Given the description of an element on the screen output the (x, y) to click on. 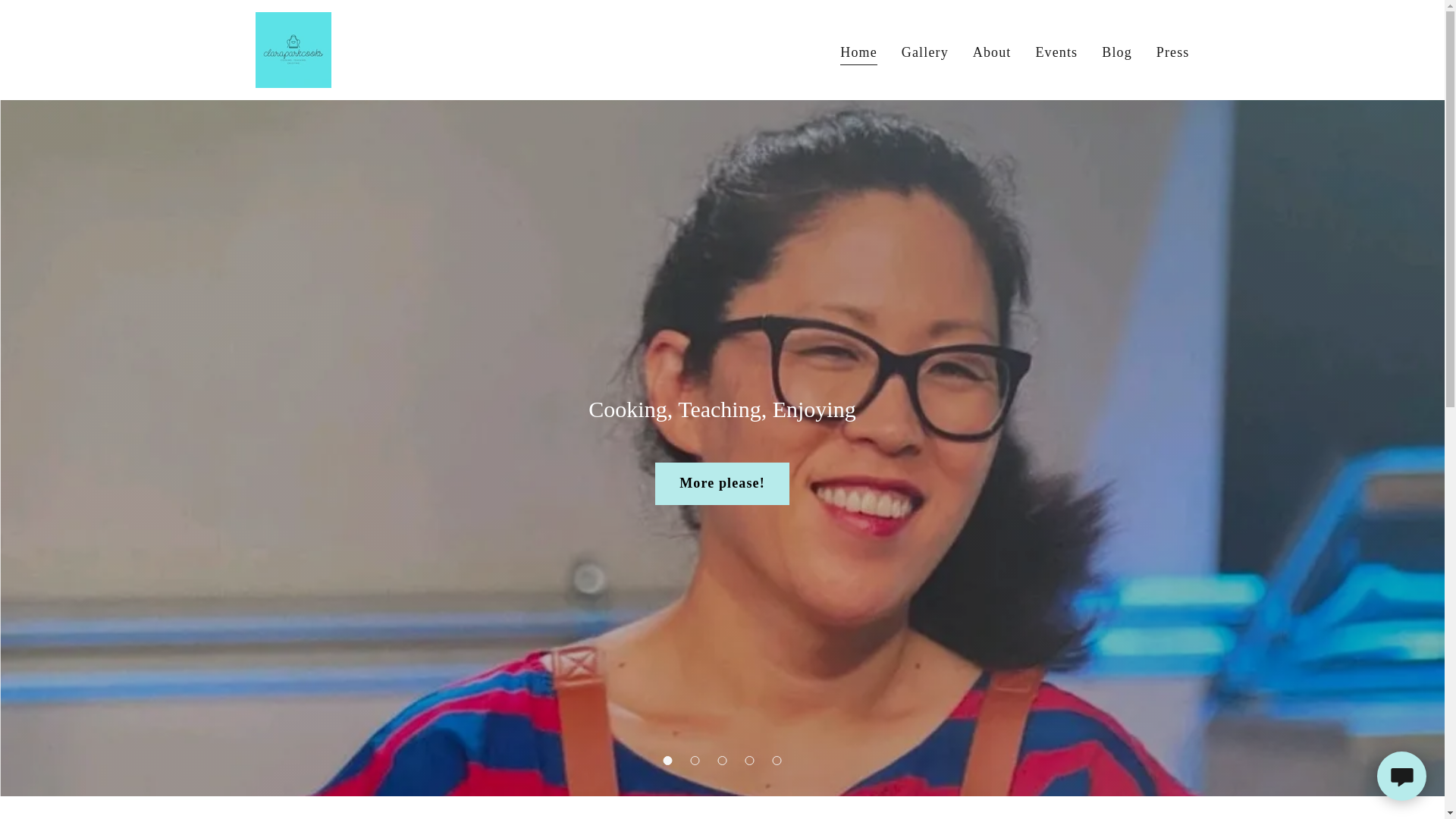
claraparkcooks (292, 48)
Gallery (924, 51)
Blog (1117, 51)
More please! (722, 483)
About (992, 51)
Events (1055, 51)
Press (1172, 51)
Home (858, 53)
